Given the description of an element on the screen output the (x, y) to click on. 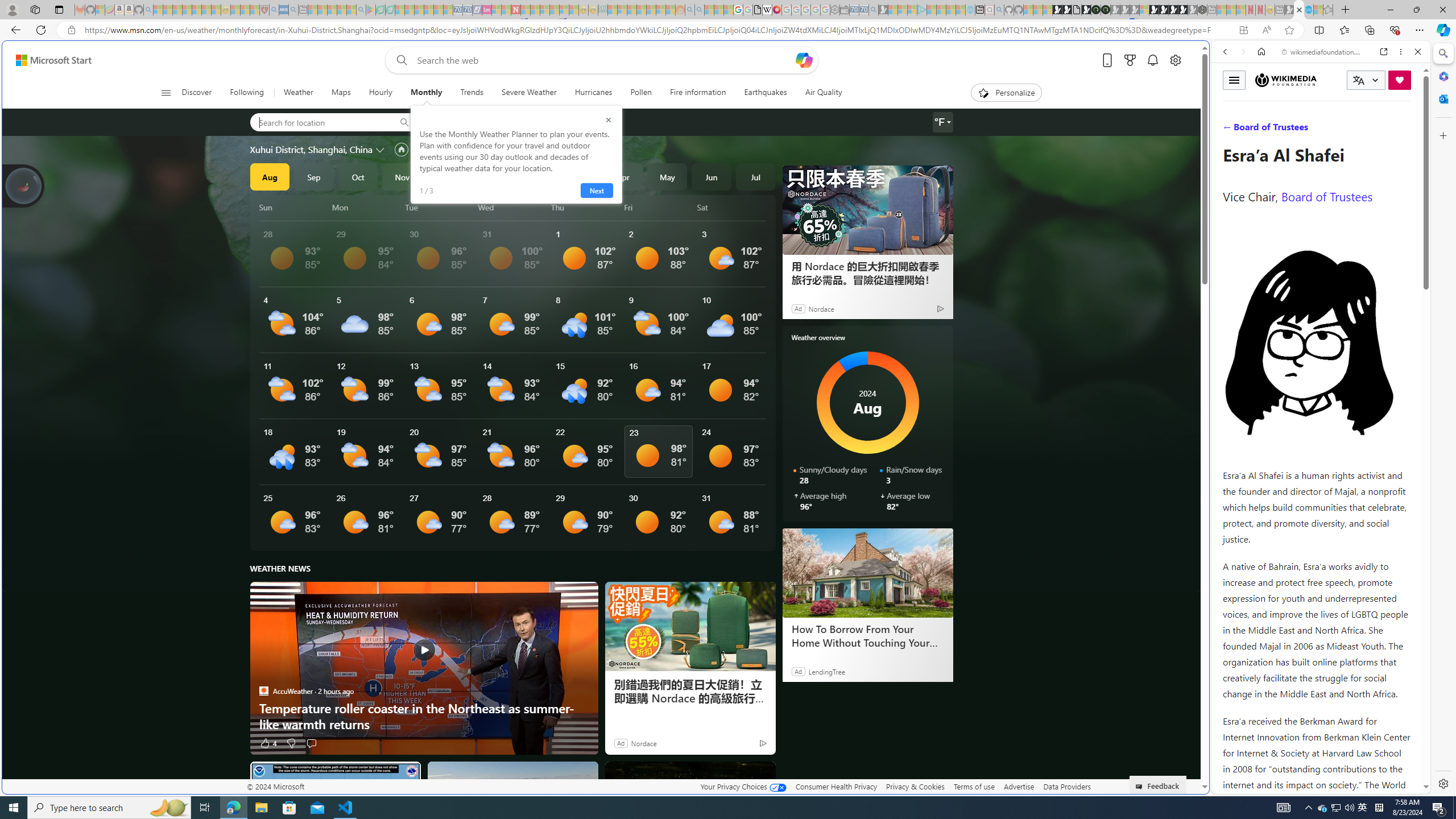
Play Free Online Games | Games from Microsoft Start (1163, 9)
Aug (268, 176)
Web scope (1230, 102)
Microsoft rewards (1129, 60)
Class: button-glyph (165, 92)
14 Common Myths Debunked By Scientific Facts - Sleeping (534, 9)
Aug (268, 176)
MediaWiki (776, 9)
Dec (445, 176)
Wallet - Sleeping (844, 9)
